Given the description of an element on the screen output the (x, y) to click on. 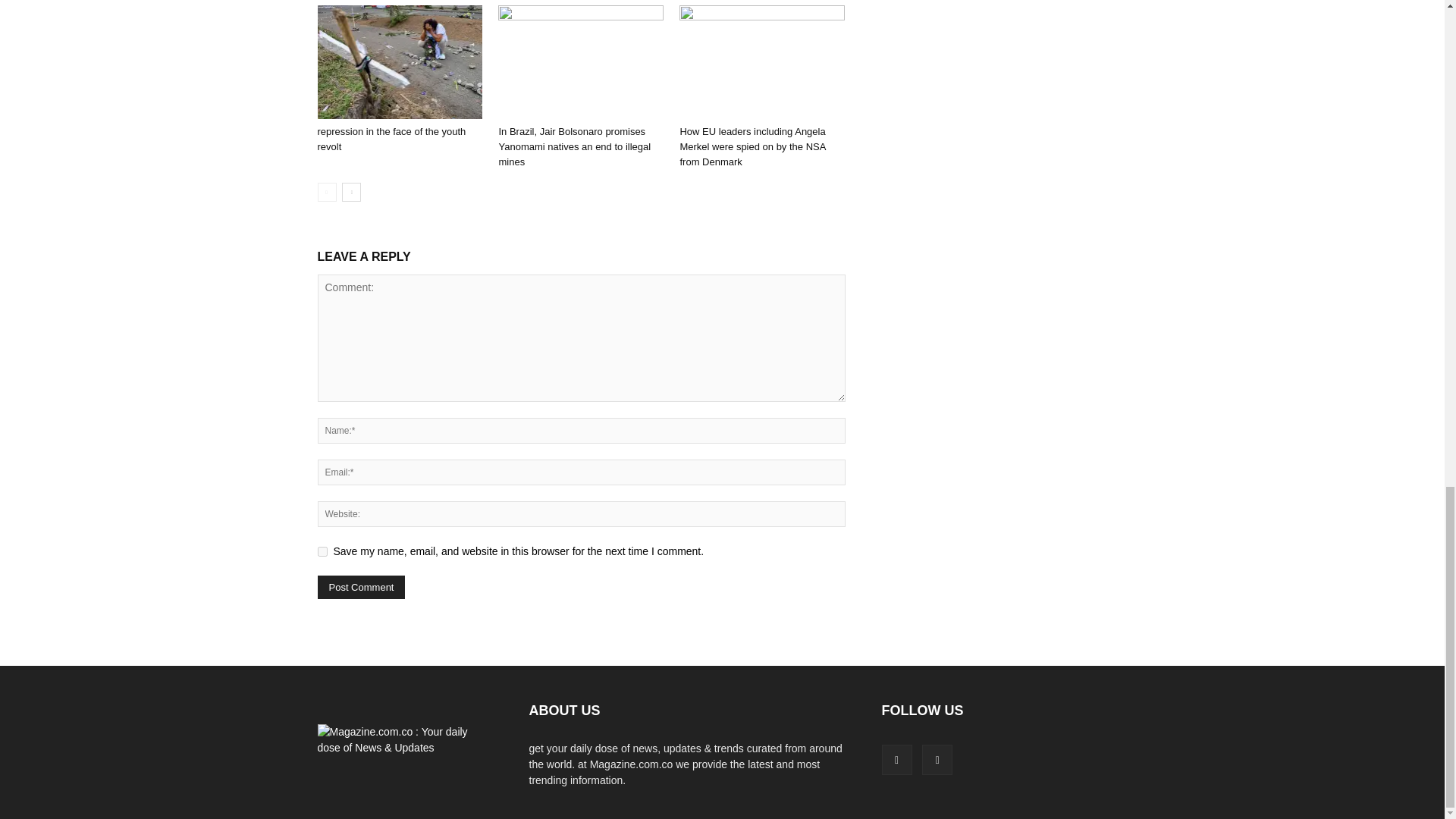
yes (321, 551)
Post Comment (360, 586)
